Given the description of an element on the screen output the (x, y) to click on. 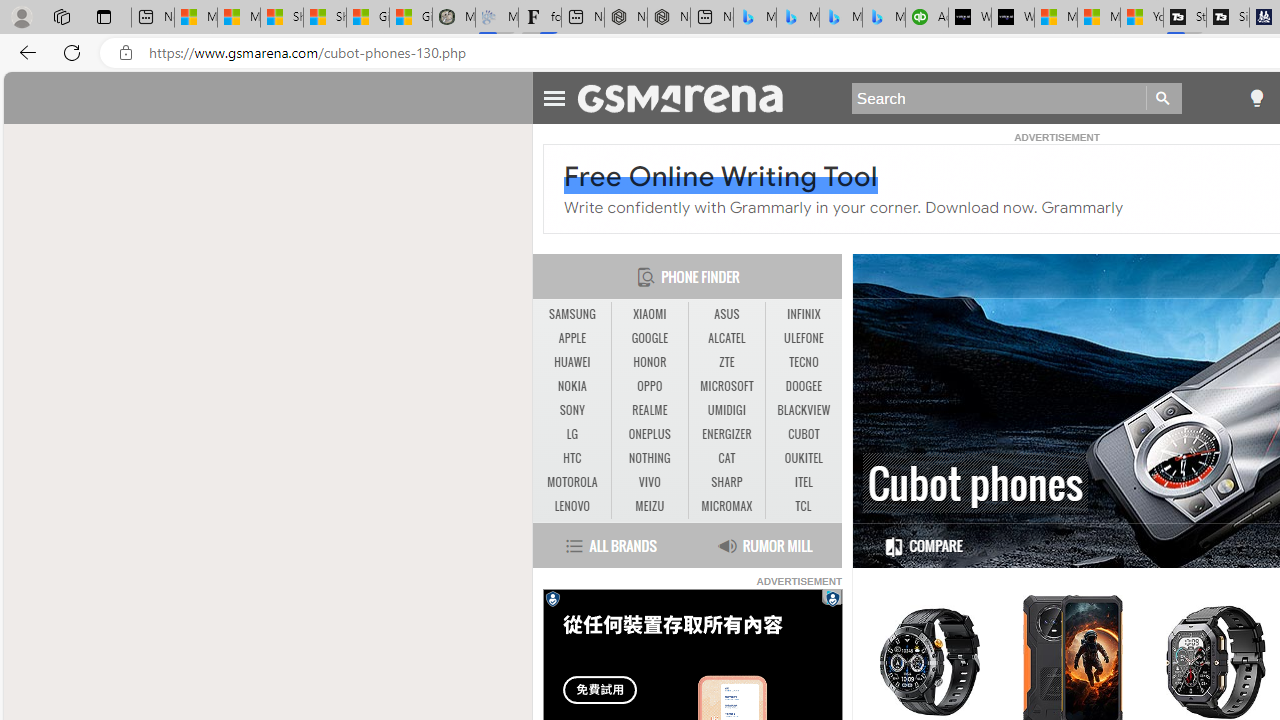
ONEPLUS (649, 434)
UMIDIGI (726, 411)
NOKIA (571, 386)
TECNO (803, 362)
XIAOMI (649, 314)
APPLE (571, 339)
Free Online Writing Tool (721, 176)
CUBOT (803, 434)
Microsoft Bing Travel - Shangri-La Hotel Bangkok (883, 17)
Gilma and Hector both pose tropical trouble for Hawaii (411, 17)
HTC (571, 458)
REALME (649, 410)
